Given the description of an element on the screen output the (x, y) to click on. 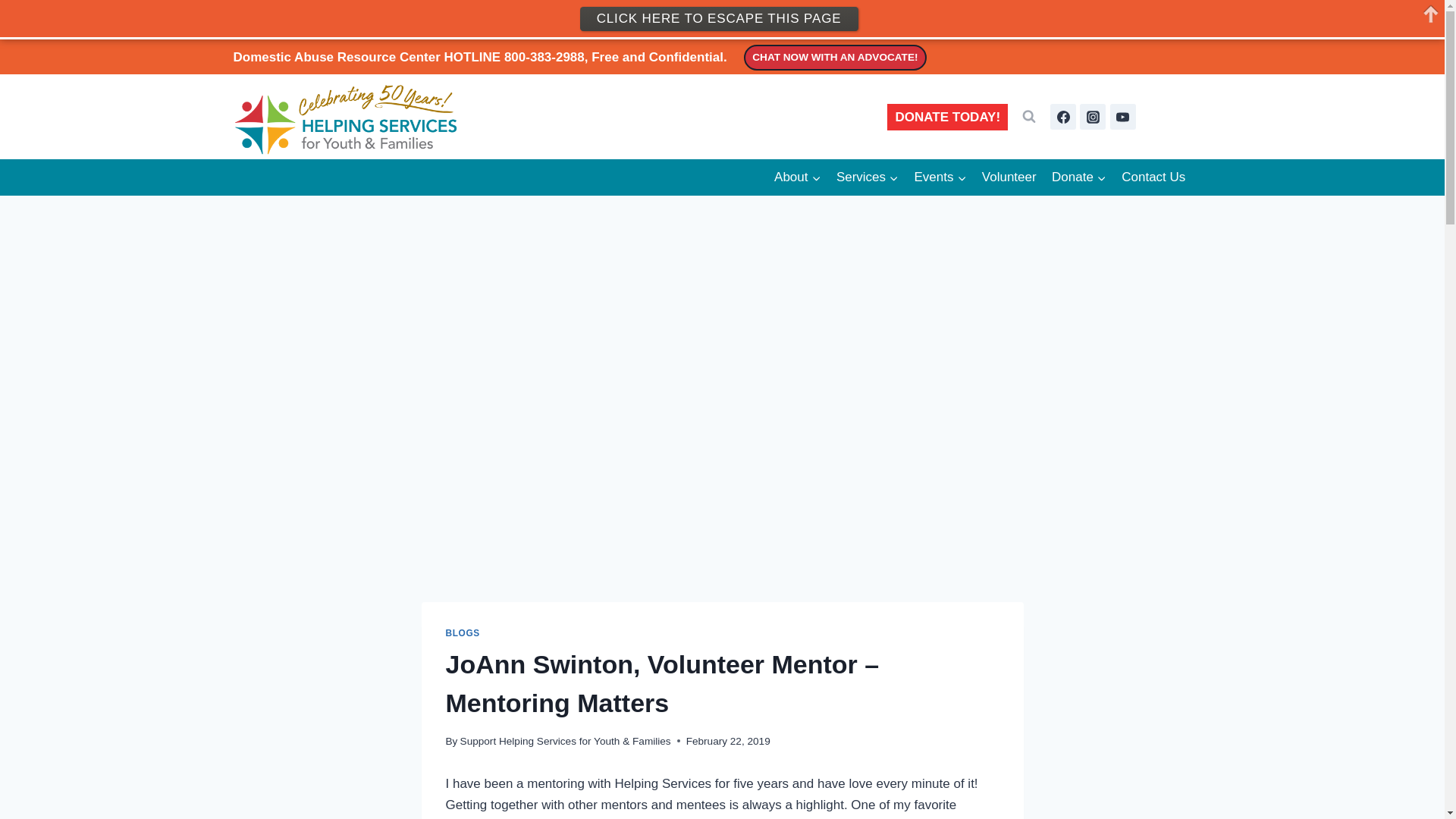
Services (867, 176)
Donate (1078, 176)
CHAT NOW WITH AN ADVOCATE! (835, 57)
About (797, 176)
DONATE TODAY! (946, 117)
Volunteer (1008, 176)
Contact Us (1152, 176)
Events (939, 176)
